Given the description of an element on the screen output the (x, y) to click on. 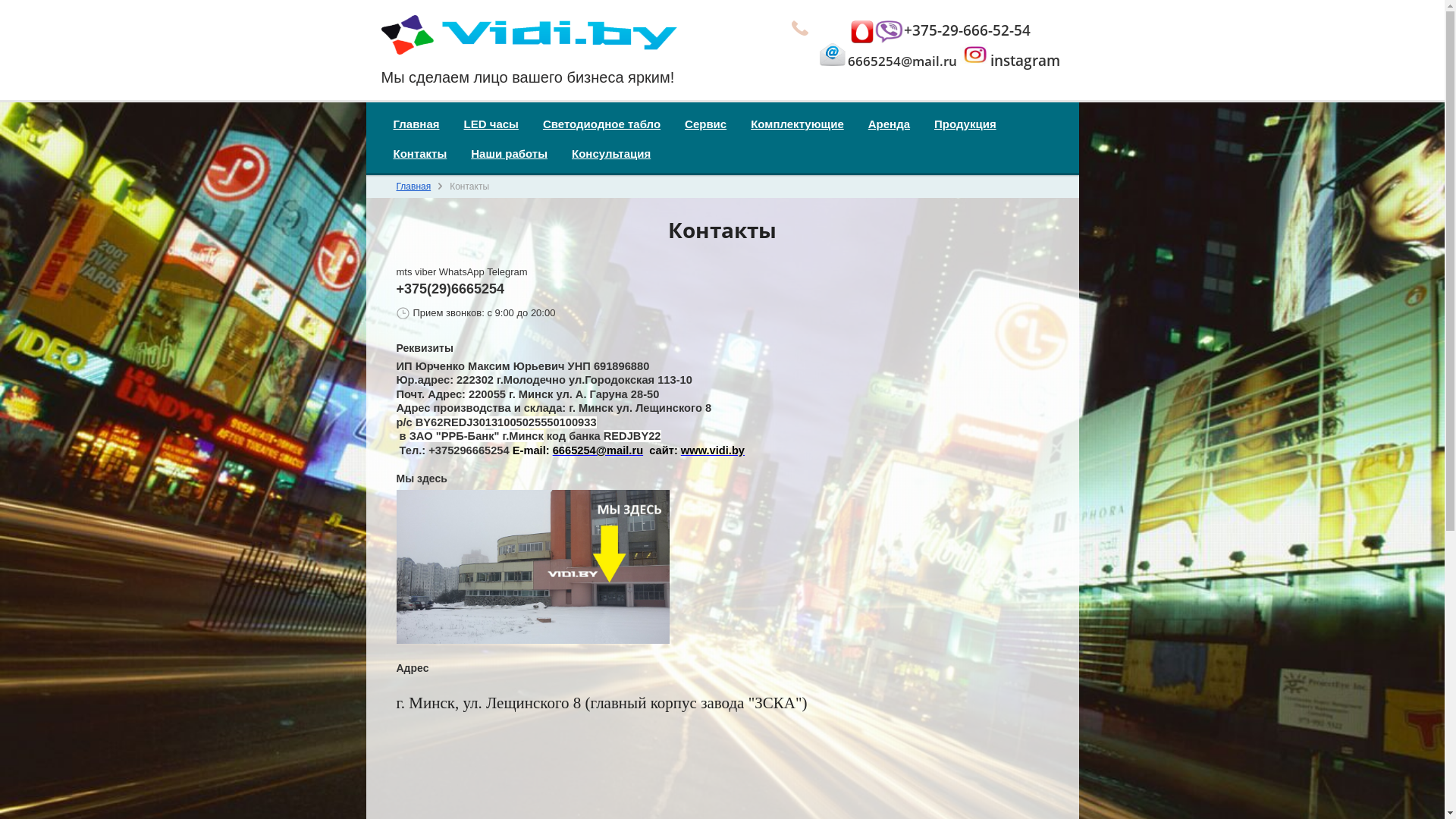
+375(29)6665254 Element type: text (449, 288)
6665254@mail.ru Element type: text (597, 450)
instagram Element type: text (1025, 59)
+375-29-666-52-54 Element type: text (966, 29)
www.vidi.by Element type: text (712, 450)
